Given the description of an element on the screen output the (x, y) to click on. 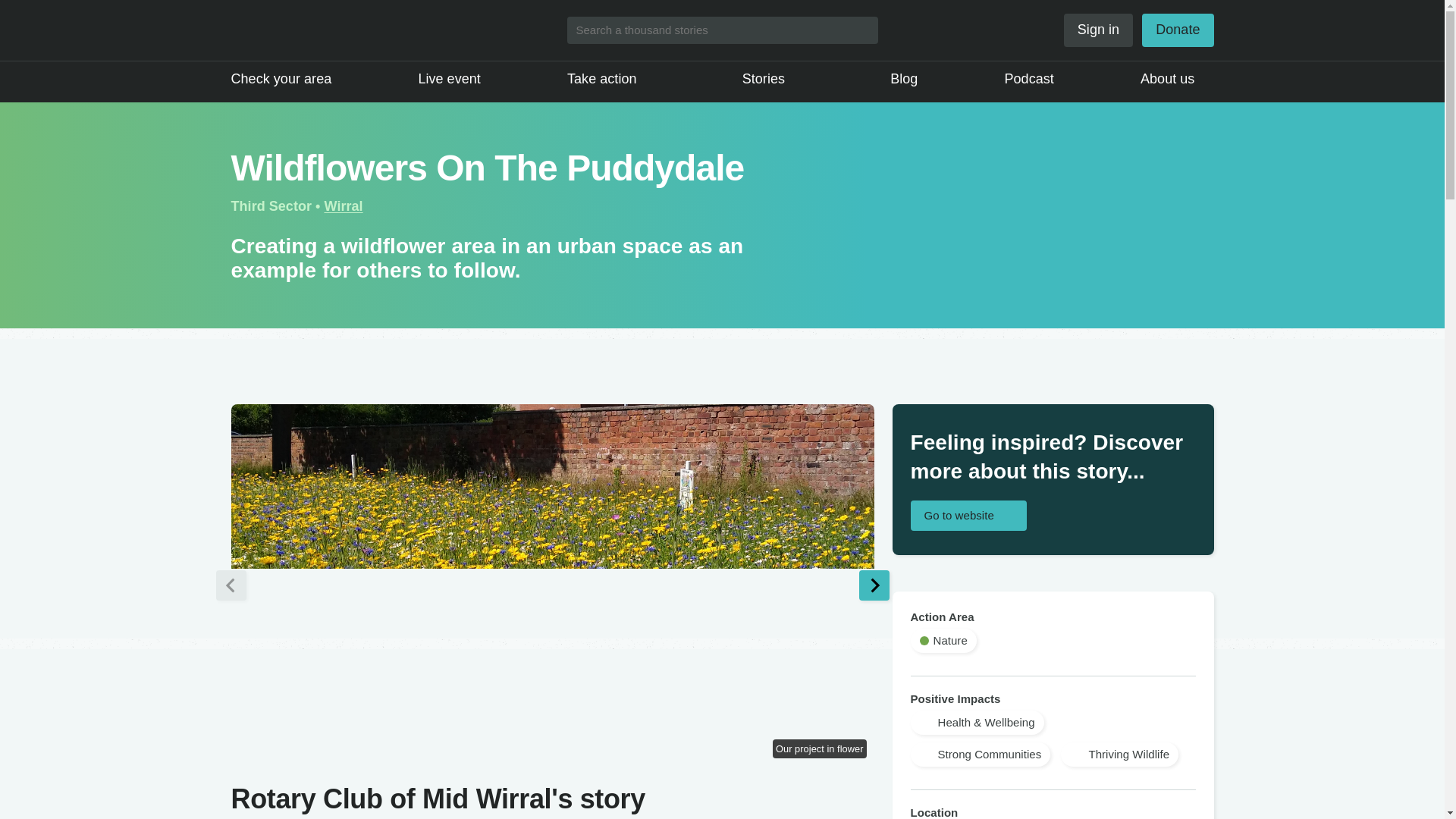
Live event (448, 78)
Sign in (1098, 29)
Check your area (280, 78)
Homepage (311, 30)
Take action (611, 78)
Podcast (1029, 78)
About us (1176, 78)
Blog (903, 78)
Donate (1176, 29)
Stories (772, 78)
